Given the description of an element on the screen output the (x, y) to click on. 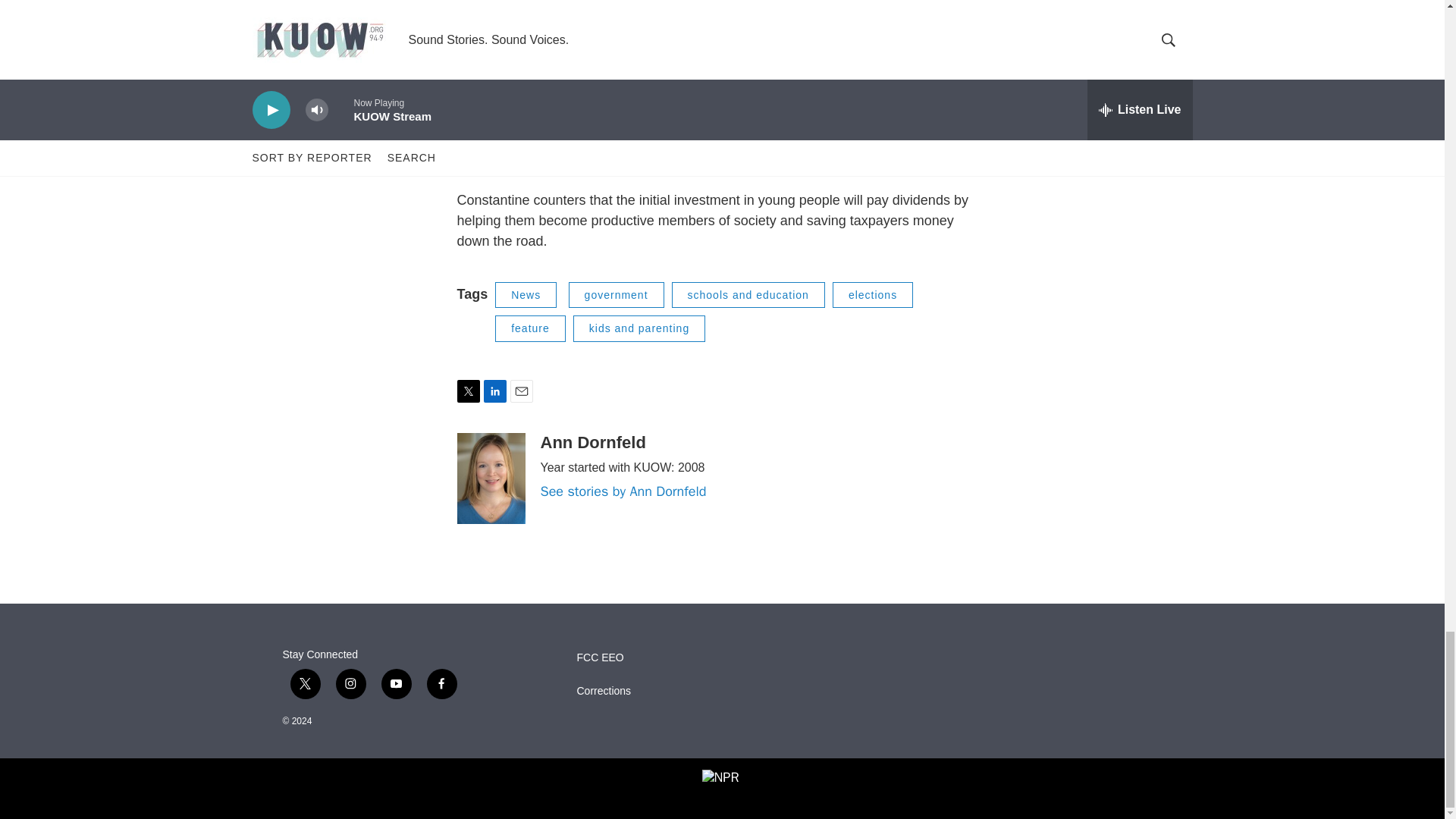
feature (530, 328)
LinkedIn (494, 391)
government (616, 294)
twitter (304, 684)
Twitter (468, 391)
Ann Dornfeld (592, 442)
News (525, 294)
kids and parenting (638, 328)
schools and education (748, 294)
Email (520, 391)
elections (872, 294)
See stories by Ann Dornfeld (623, 491)
